Given the description of an element on the screen output the (x, y) to click on. 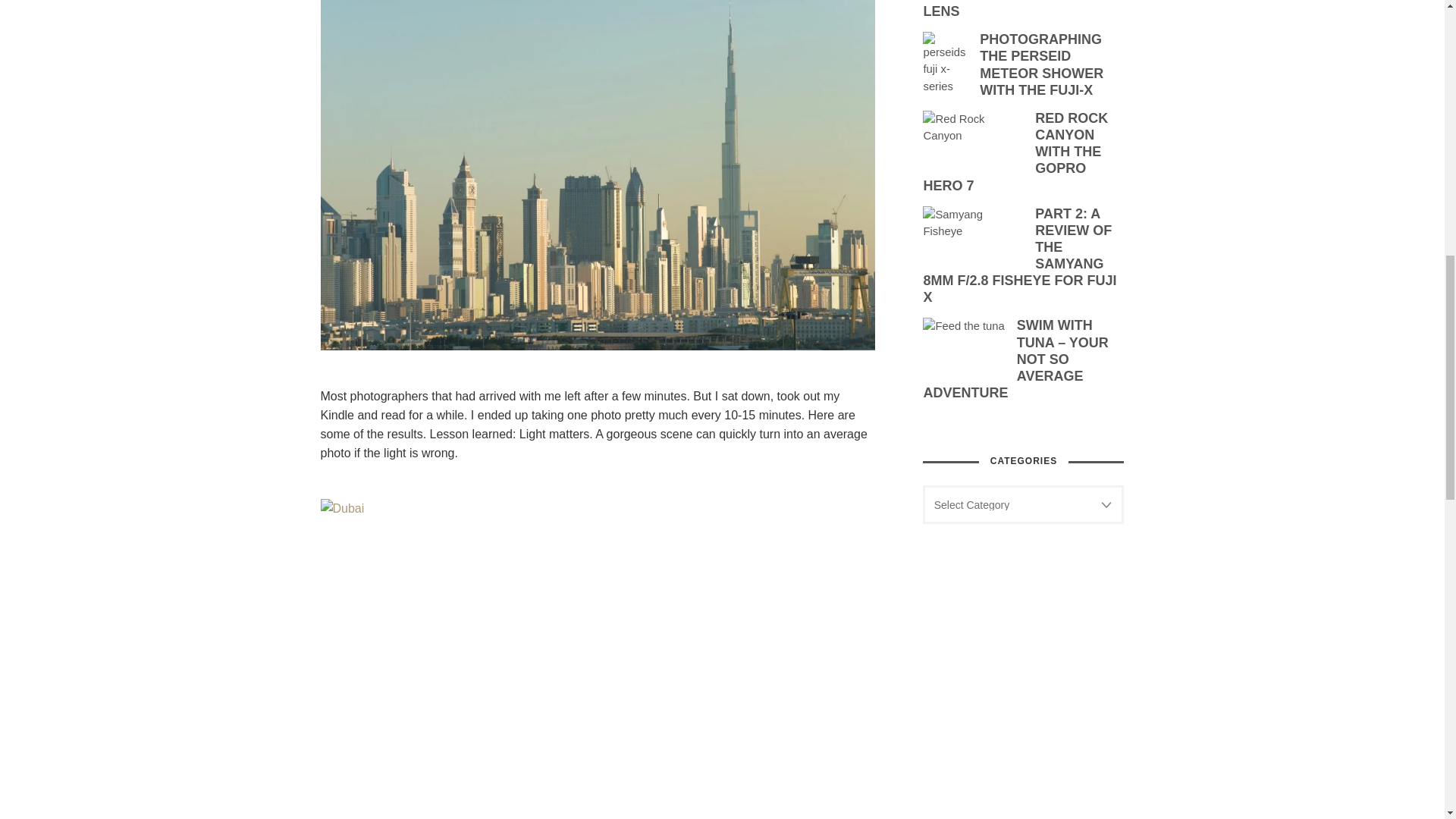
Red Rock Canyon with the GoPro Hero 7 (973, 143)
PHOTOGRAPHING THE PERSEID METEOR SHOWER WITH THE FUJI-X (1023, 65)
RED ROCK CANYON WITH THE GOPRO HERO 7 (1023, 152)
Swim with tuna - your not so average adventure (963, 344)
